Given the description of an element on the screen output the (x, y) to click on. 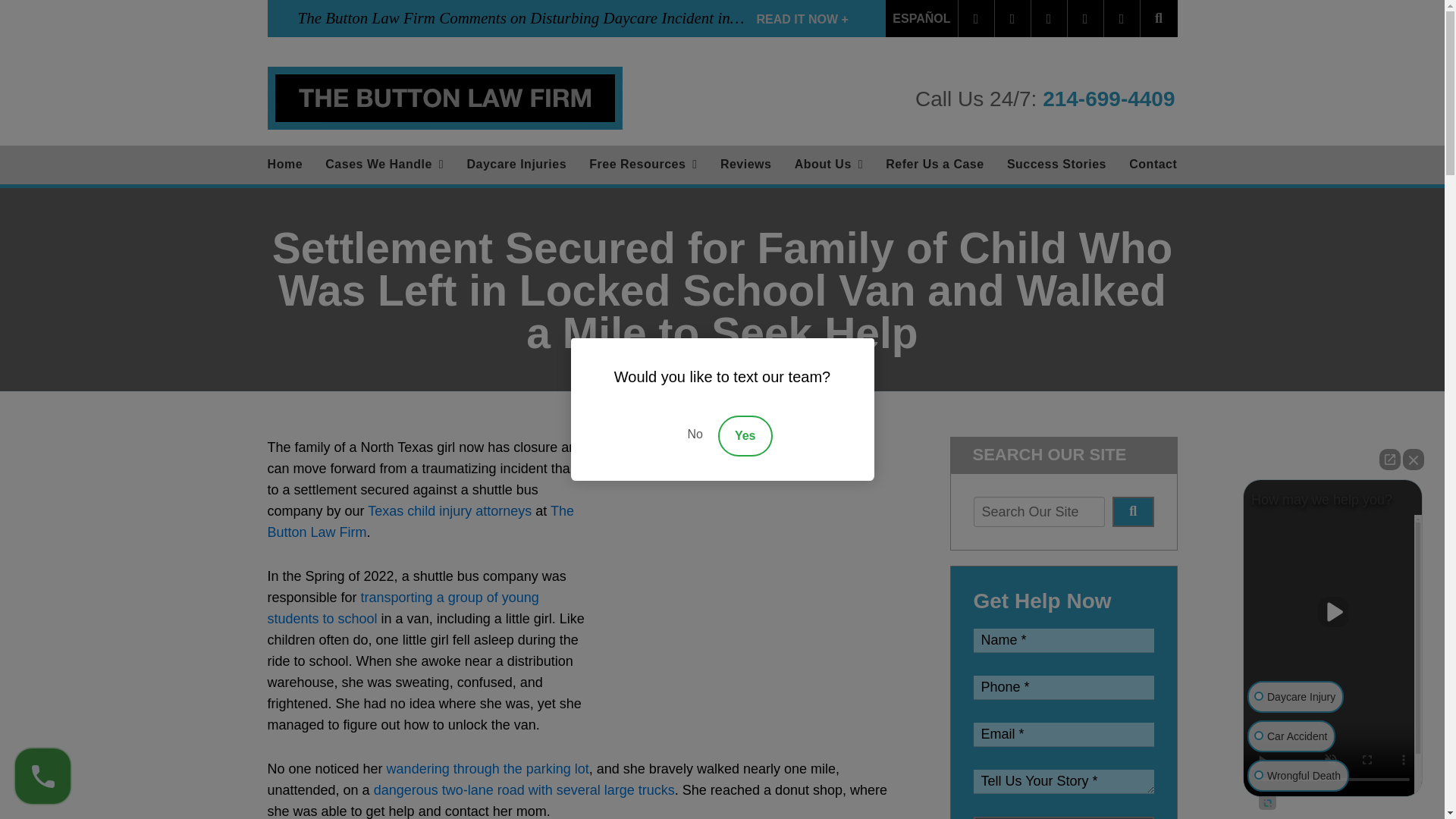
214-699-4409 (1108, 98)
Instagram (1121, 18)
YouTube (1085, 18)
Twitter (1012, 18)
LinkedIn (1048, 18)
Search (1133, 511)
Home (285, 164)
Search (1158, 18)
Cases We Handle (384, 164)
Facebook (976, 18)
